Given the description of an element on the screen output the (x, y) to click on. 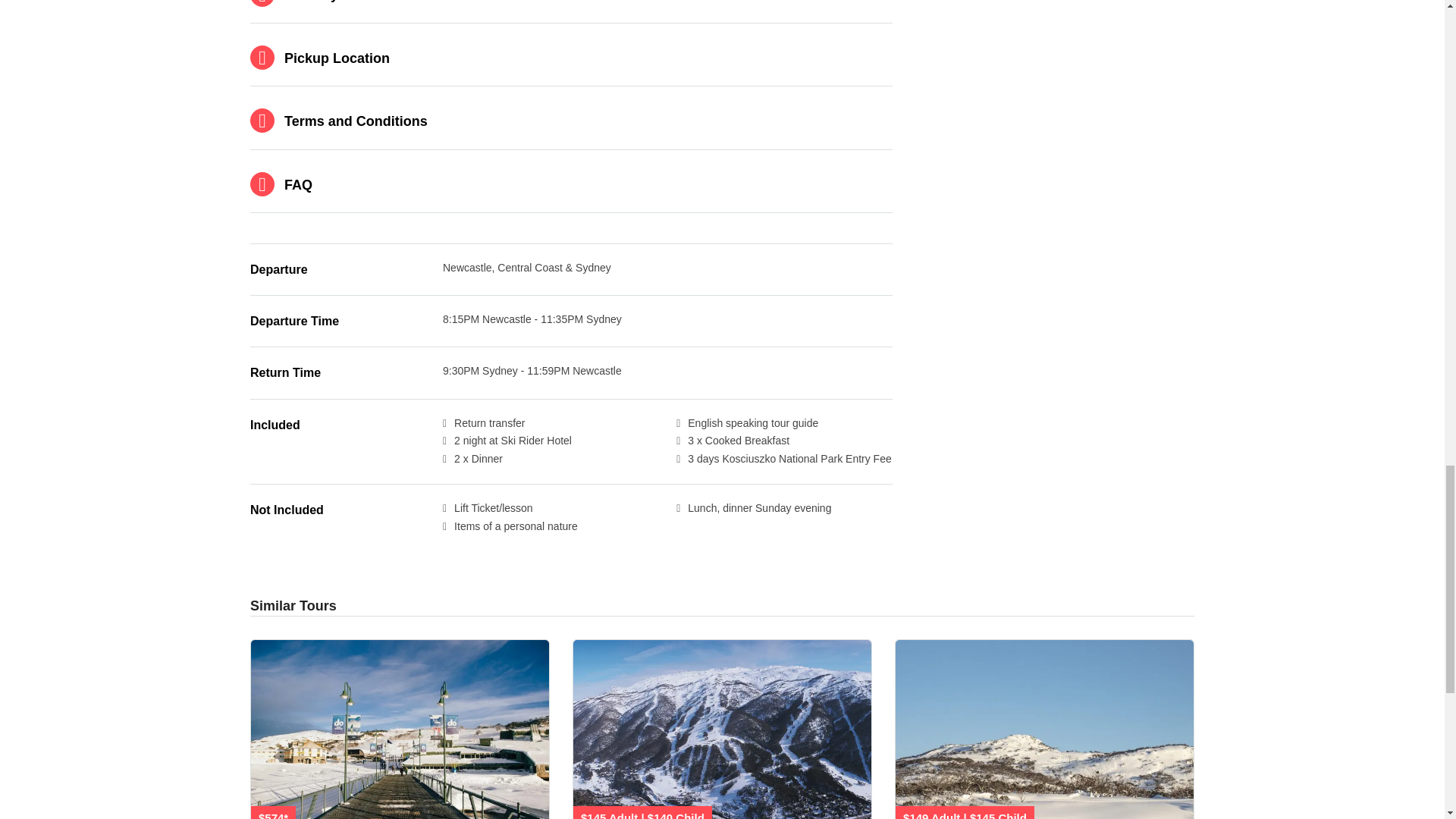
itinerary (571, 11)
Pickup Location (571, 58)
Terms and Conditions (571, 121)
FAQ (571, 185)
